Given the description of an element on the screen output the (x, y) to click on. 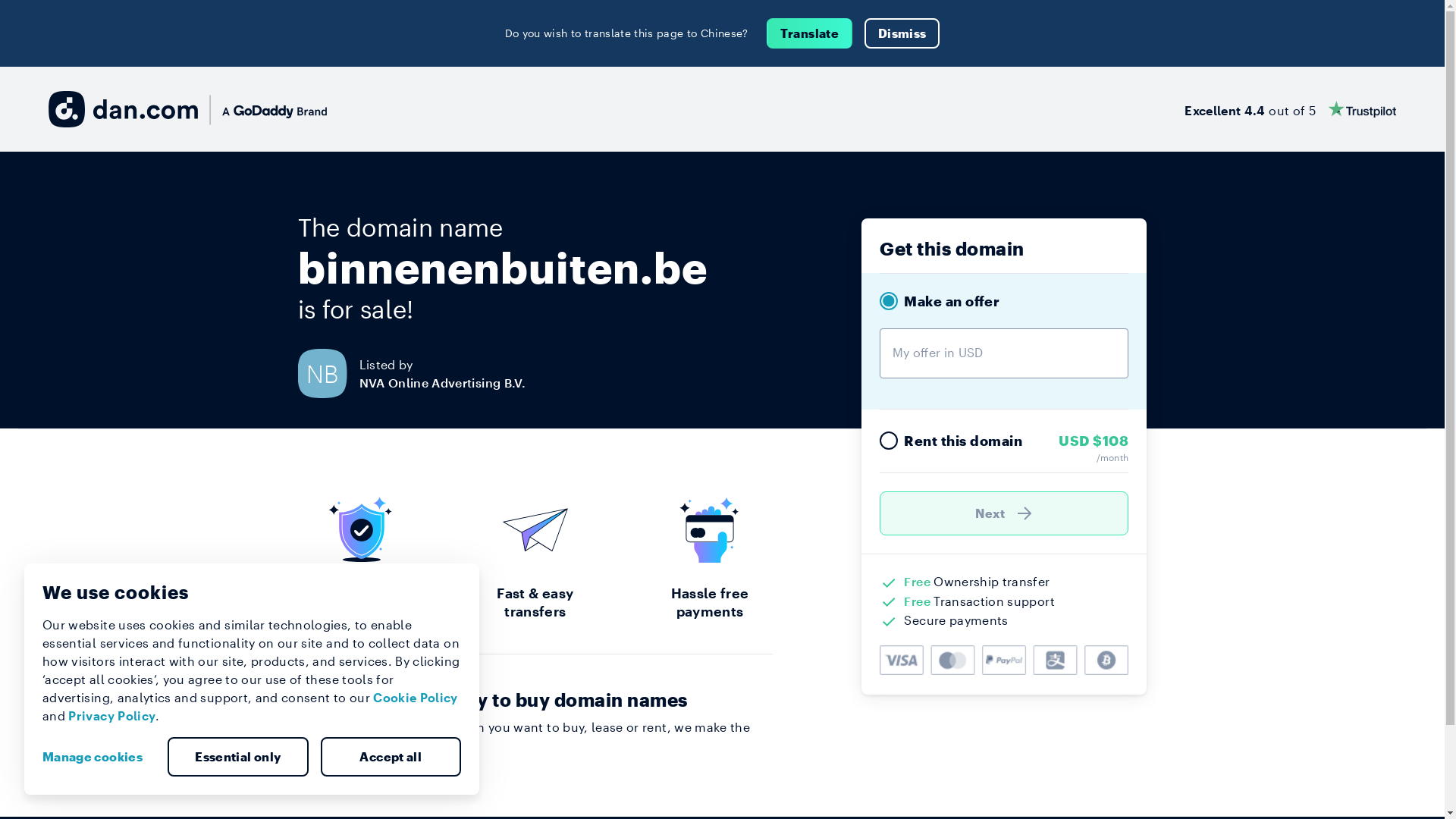
Privacy Policy Element type: text (111, 715)
Accept all Element type: text (390, 756)
Next
) Element type: text (1003, 513)
Excellent 4.4 out of 5 Element type: text (1290, 109)
Essential only Element type: text (237, 756)
Manage cookies Element type: text (98, 756)
Dismiss Element type: text (901, 33)
Cookie Policy Element type: text (415, 697)
Translate Element type: text (809, 33)
